Given the description of an element on the screen output the (x, y) to click on. 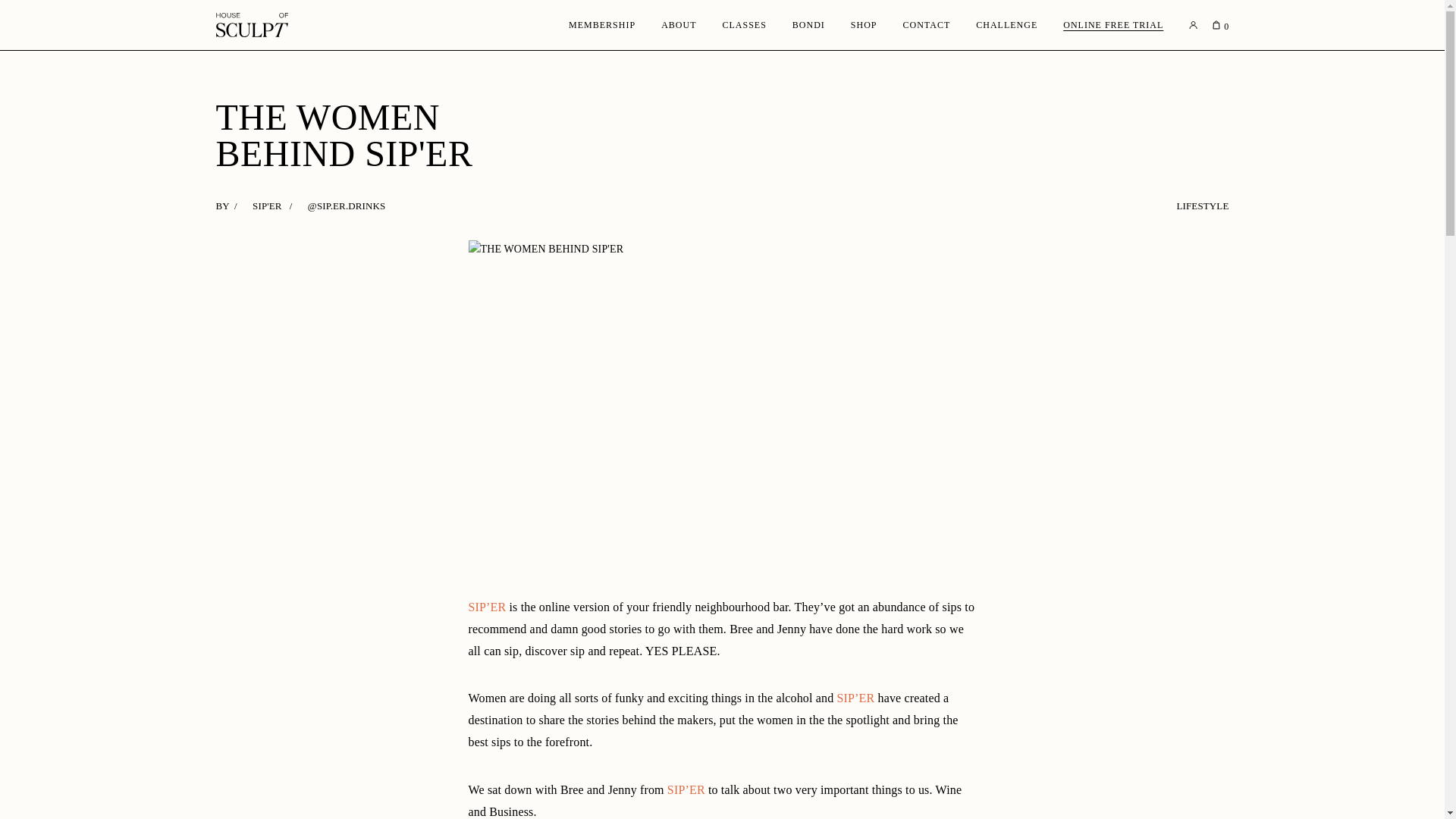
ABOUT (678, 24)
CHALLENGE (1005, 24)
ONLINE FREE TRIAL (1112, 24)
CLASSES (743, 24)
BONDI (808, 24)
CONTACT (926, 24)
MEMBERSHIP (601, 24)
SHOP (863, 24)
